Given the description of an element on the screen output the (x, y) to click on. 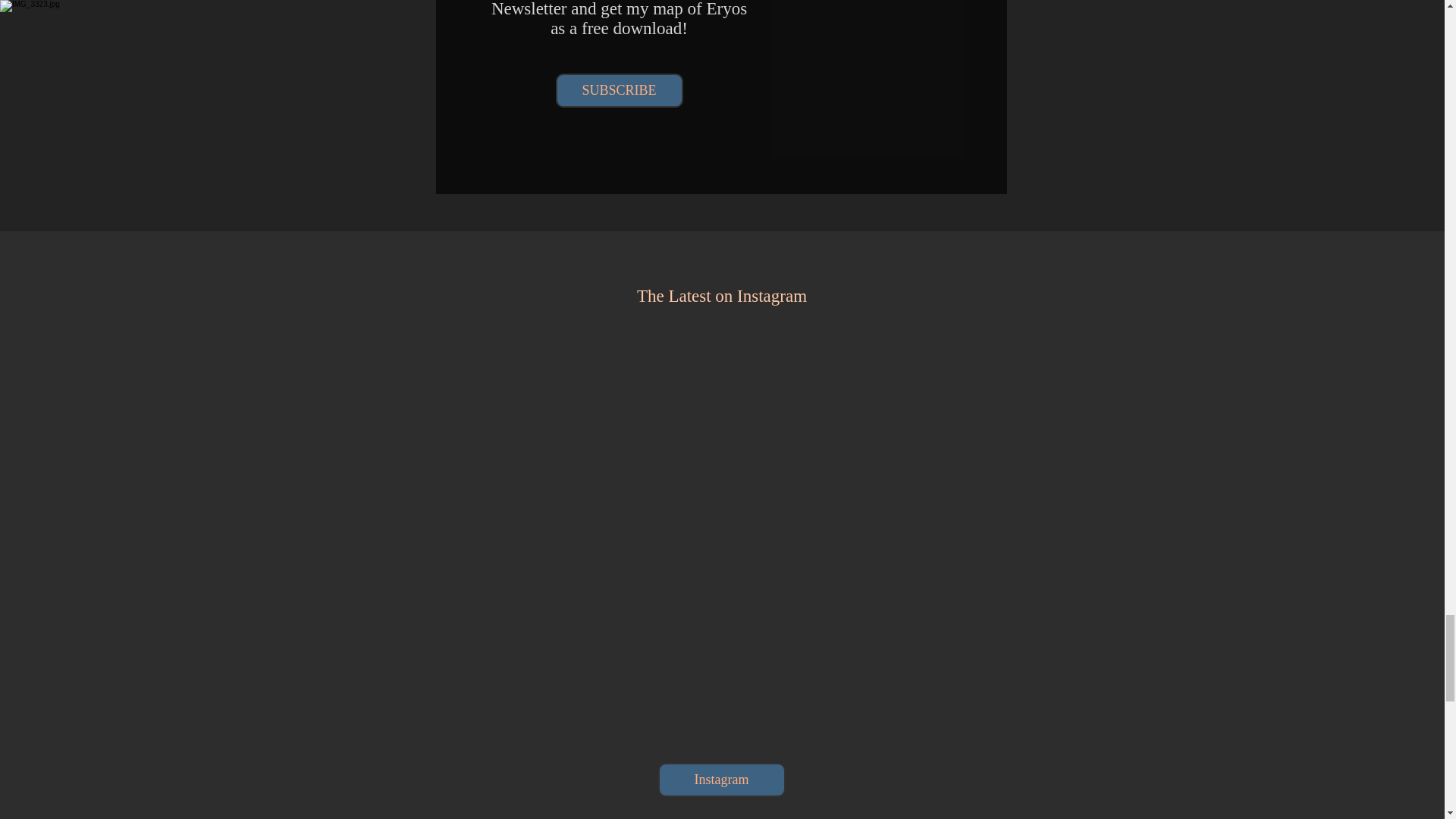
SUBSCRIBE (618, 90)
Instagram (722, 779)
MapOfEryosLarge.jpg (873, 69)
